Given the description of an element on the screen output the (x, y) to click on. 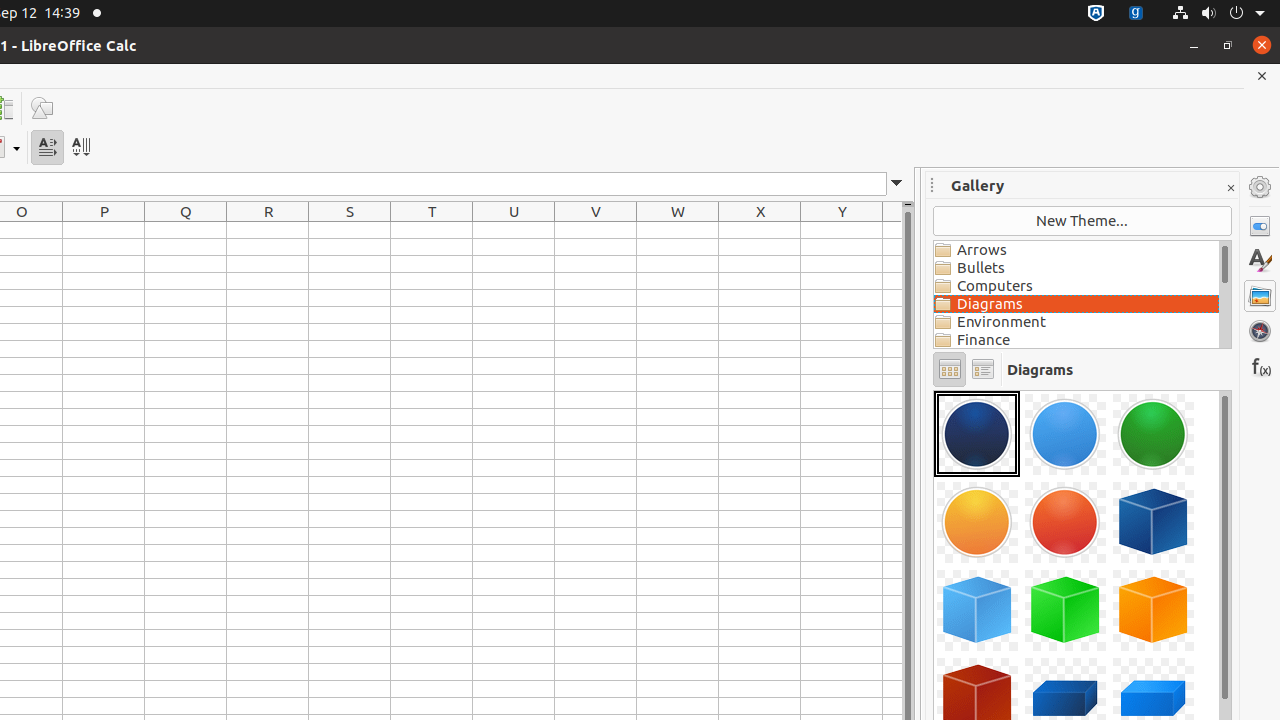
Component-Circle04-Transparent-Orange Element type: list-item (977, 522)
Navigator Element type: radio-button (1260, 331)
Component-Sphere04-DarkRed Element type: list-item (934, 390)
Arrows Element type: list-item (1076, 249)
Properties Element type: radio-button (1260, 226)
